Given the description of an element on the screen output the (x, y) to click on. 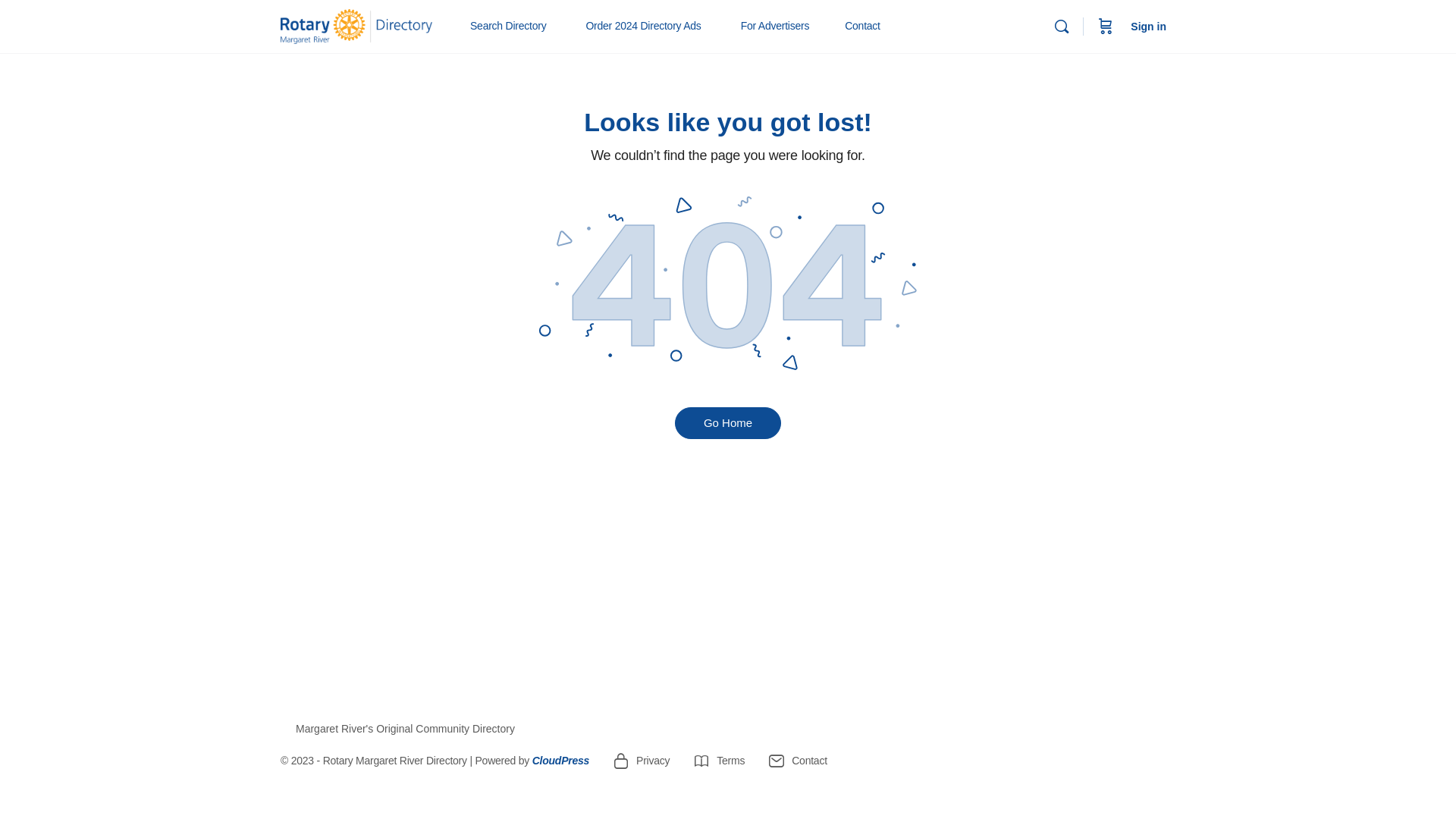
Go Home Element type: text (727, 423)
Sign in Element type: text (1148, 26)
Contact Element type: text (862, 26)
Privacy Element type: text (640, 760)
For Advertisers Element type: text (781, 26)
CloudPress Element type: text (560, 760)
Order 2024 Directory Ads Element type: text (649, 26)
Terms Element type: text (718, 760)
Search Directory Element type: text (514, 26)
Contact Element type: text (797, 760)
